Given the description of an element on the screen output the (x, y) to click on. 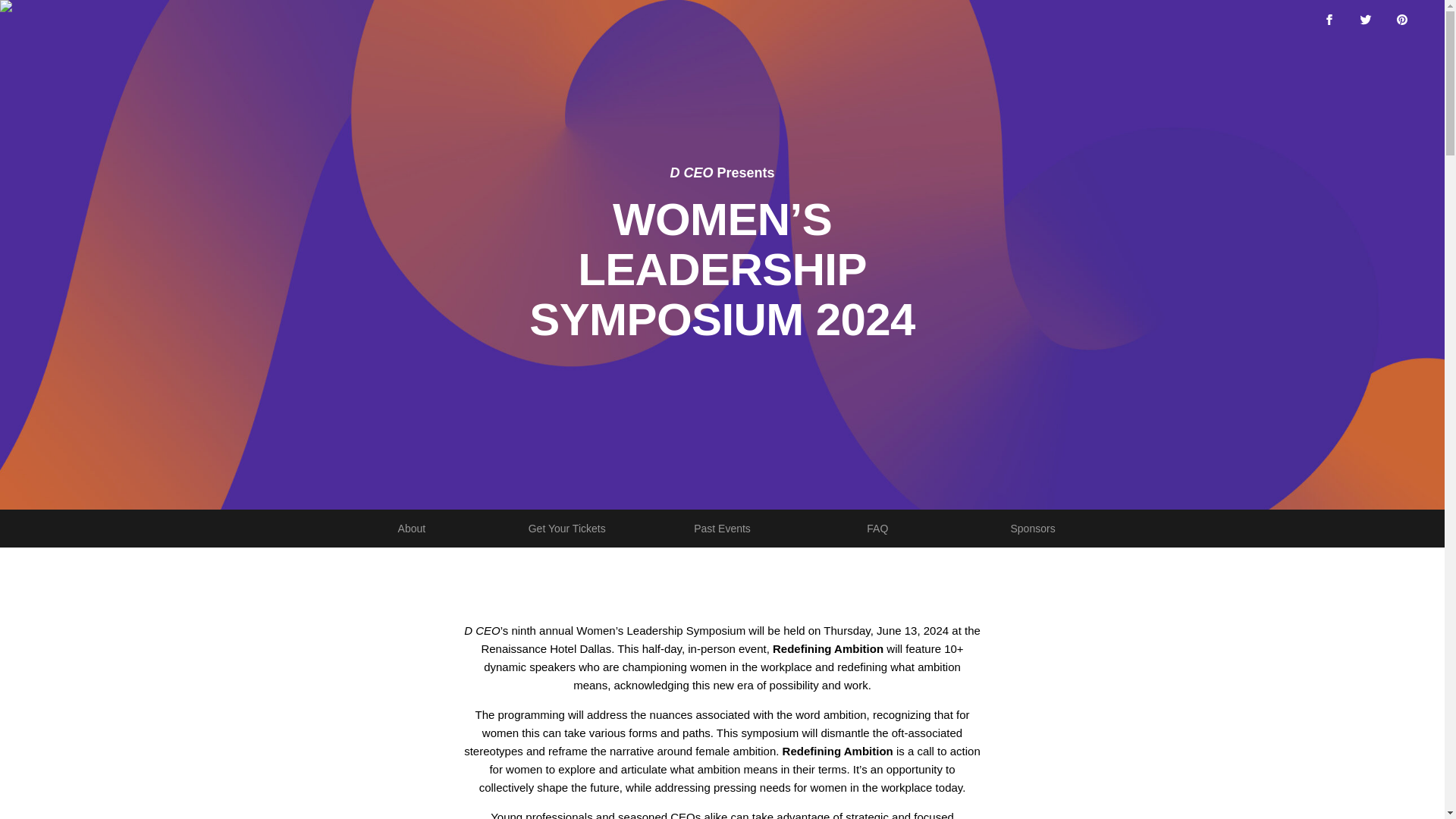
About (411, 528)
Past Events (722, 528)
FAQ (877, 528)
Sponsors (722, 528)
Get Your Tickets (1032, 528)
